Given the description of an element on the screen output the (x, y) to click on. 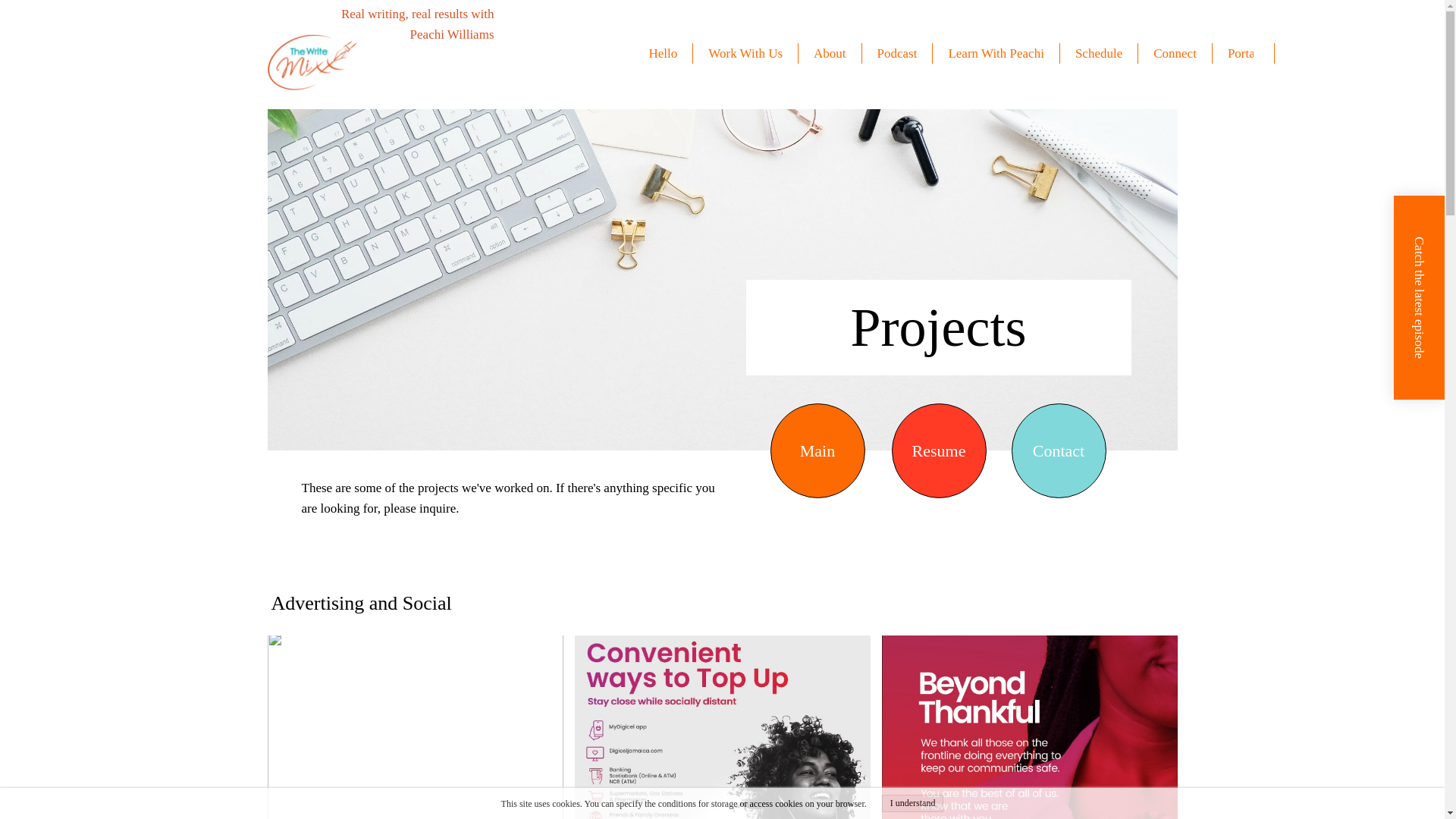
About (833, 53)
Schedule (1102, 53)
Portal (1247, 53)
Covid-19 social campaign (414, 724)
Covid-19 campaign (1028, 703)
Contact (1058, 450)
Podcast (901, 53)
Resume (938, 450)
Main (816, 450)
Connect (1178, 53)
Hello (668, 53)
Learn With Peachi (999, 53)
Social posters (722, 724)
Real writing, real results with Peachi Williams (417, 23)
Work With Us (748, 53)
